Given the description of an element on the screen output the (x, y) to click on. 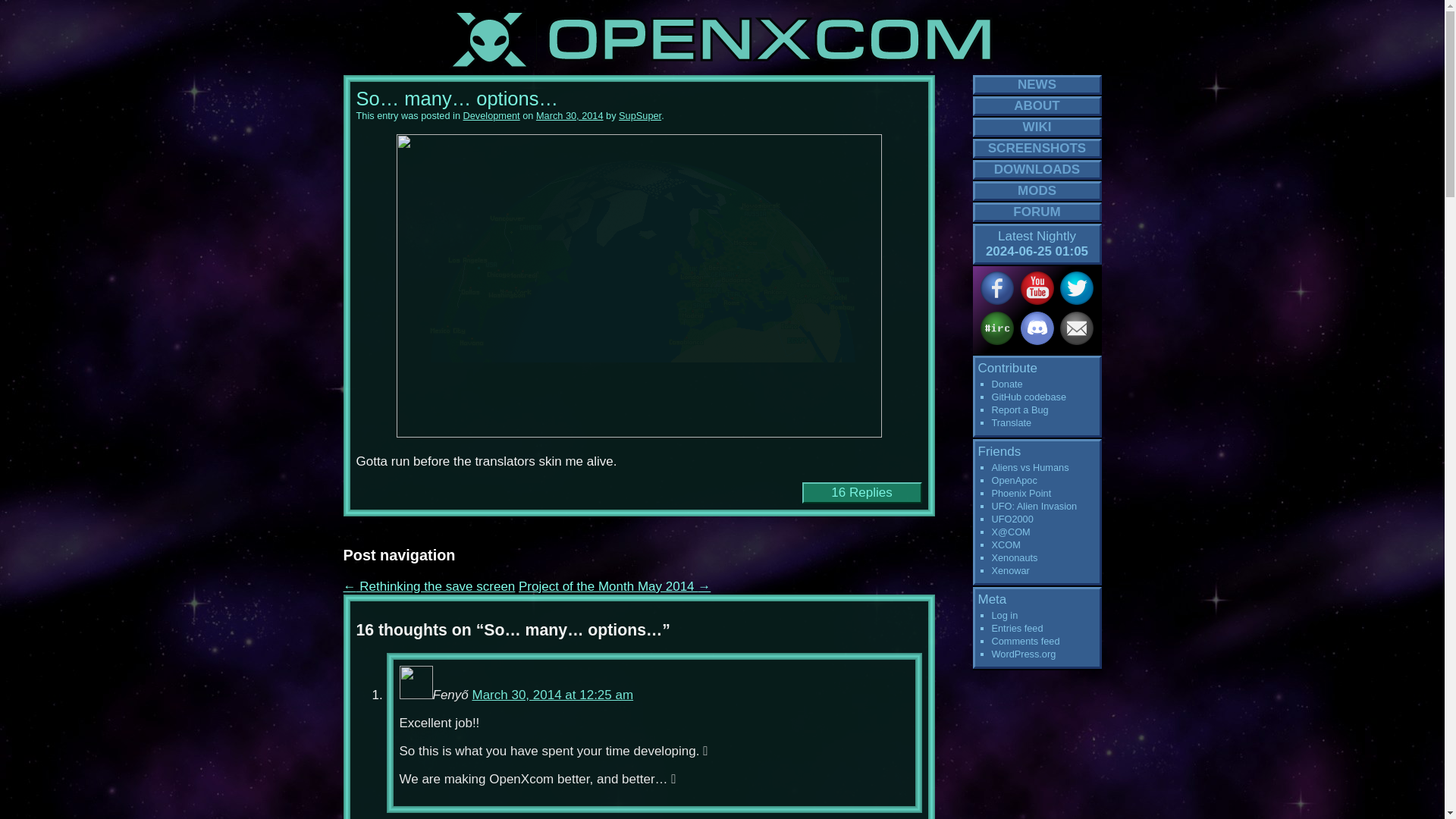
WIKI (1036, 127)
View all posts by SupSuper (639, 115)
12:03 am (569, 115)
2024-06-25 01:05 (1036, 251)
SupSuper (639, 115)
MODS (1036, 190)
DOWNLOADS (1036, 169)
ABOUT (1036, 106)
Discord (1037, 328)
IRC (996, 328)
16 Replies (861, 492)
March 30, 2014 (569, 115)
Youtube (1037, 288)
SCREENSHOTS (1036, 148)
Development (491, 115)
